Given the description of an element on the screen output the (x, y) to click on. 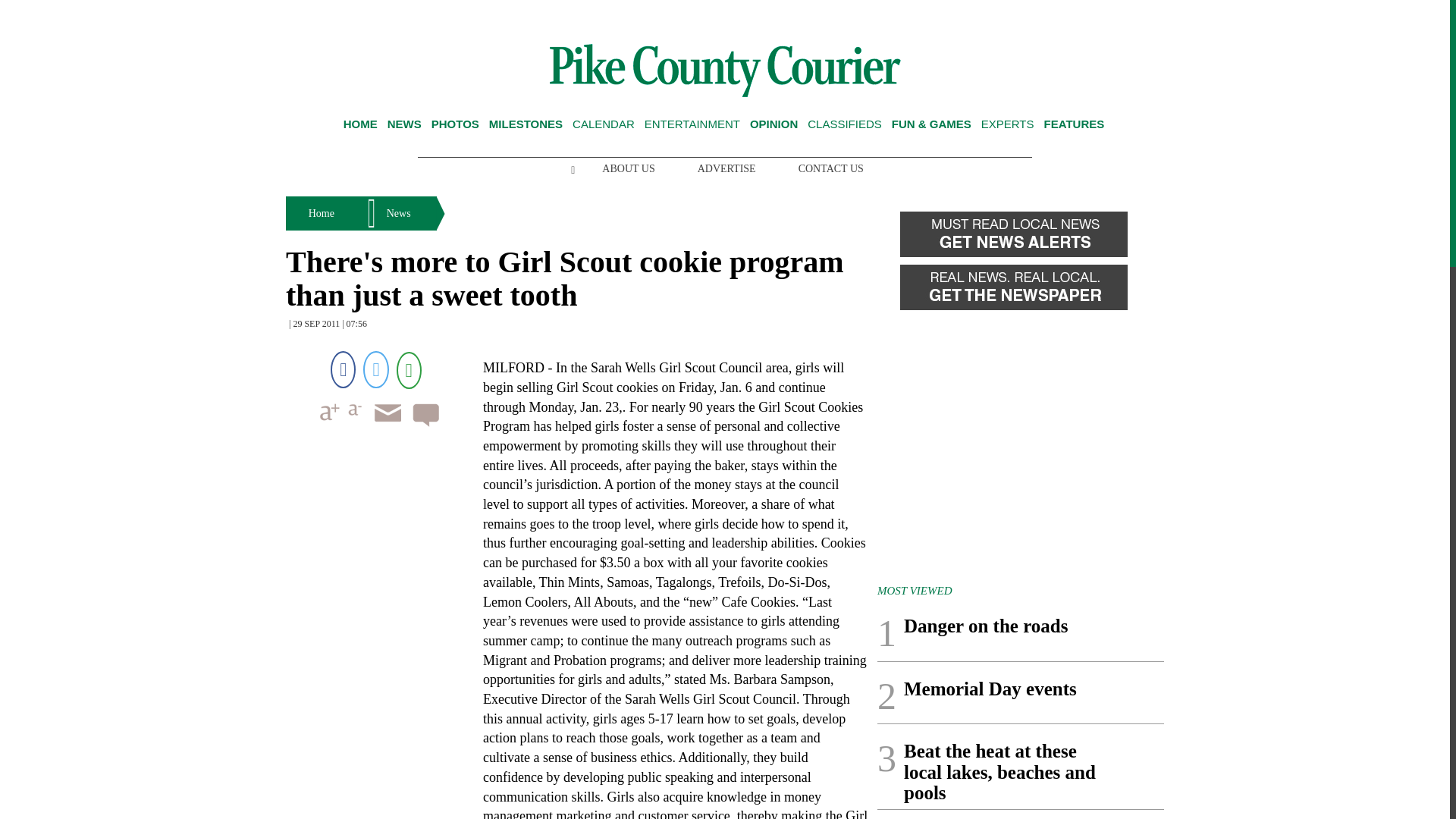
MILESTONES (525, 123)
PHOTOS (454, 123)
CLASSIFIEDS (845, 123)
FEATURES (1074, 123)
NEWS (404, 123)
EXPERTS (1007, 123)
OPINION (773, 123)
HOME (360, 123)
CALENDAR (603, 123)
ENTERTAINMENT (692, 123)
